Given the description of an element on the screen output the (x, y) to click on. 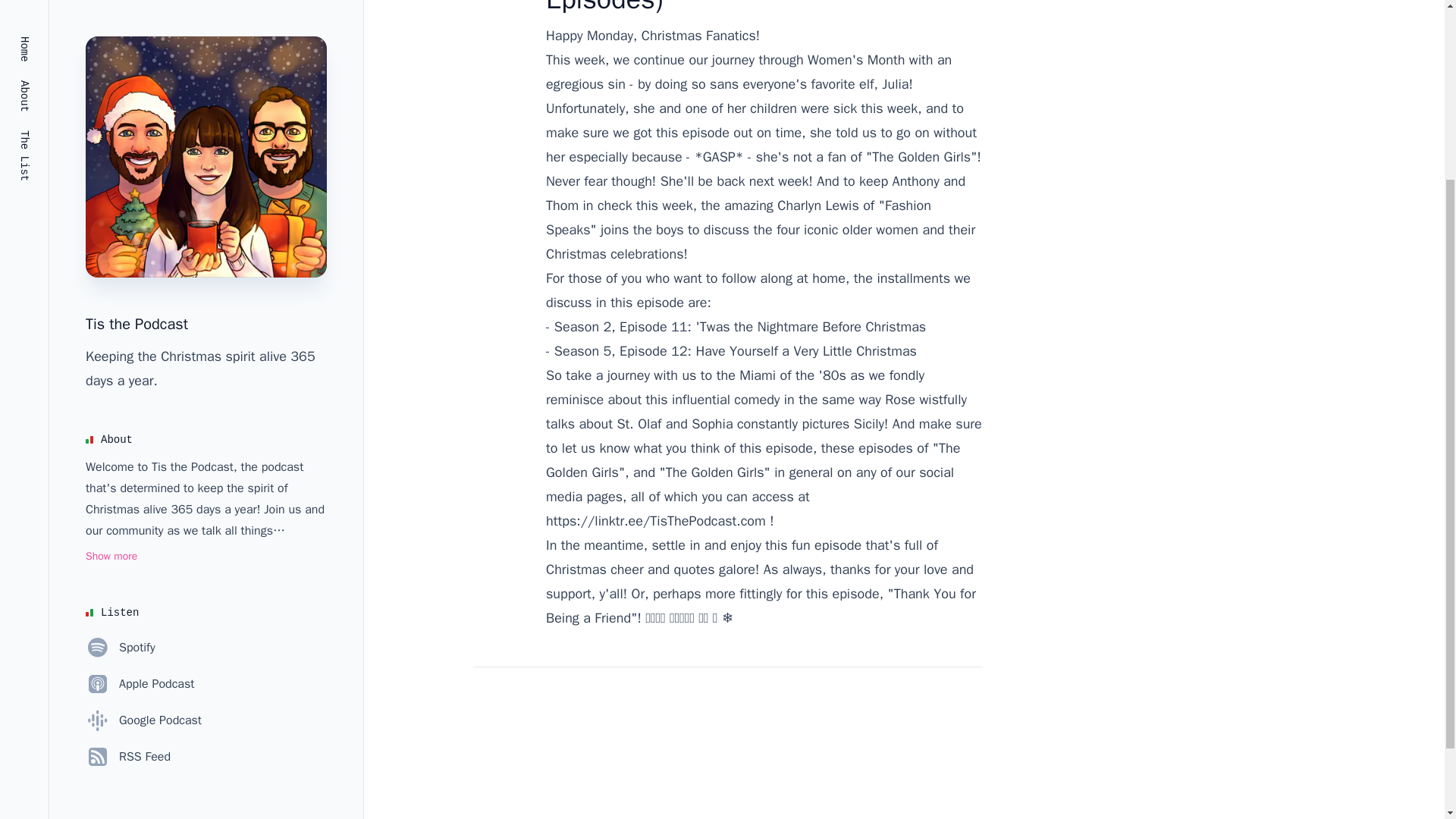
Spotify (120, 404)
Google Podcast (143, 476)
RSS Feed (127, 513)
Tis the Podcast (136, 80)
Show more (110, 312)
Apple Podcast (139, 440)
